Given the description of an element on the screen output the (x, y) to click on. 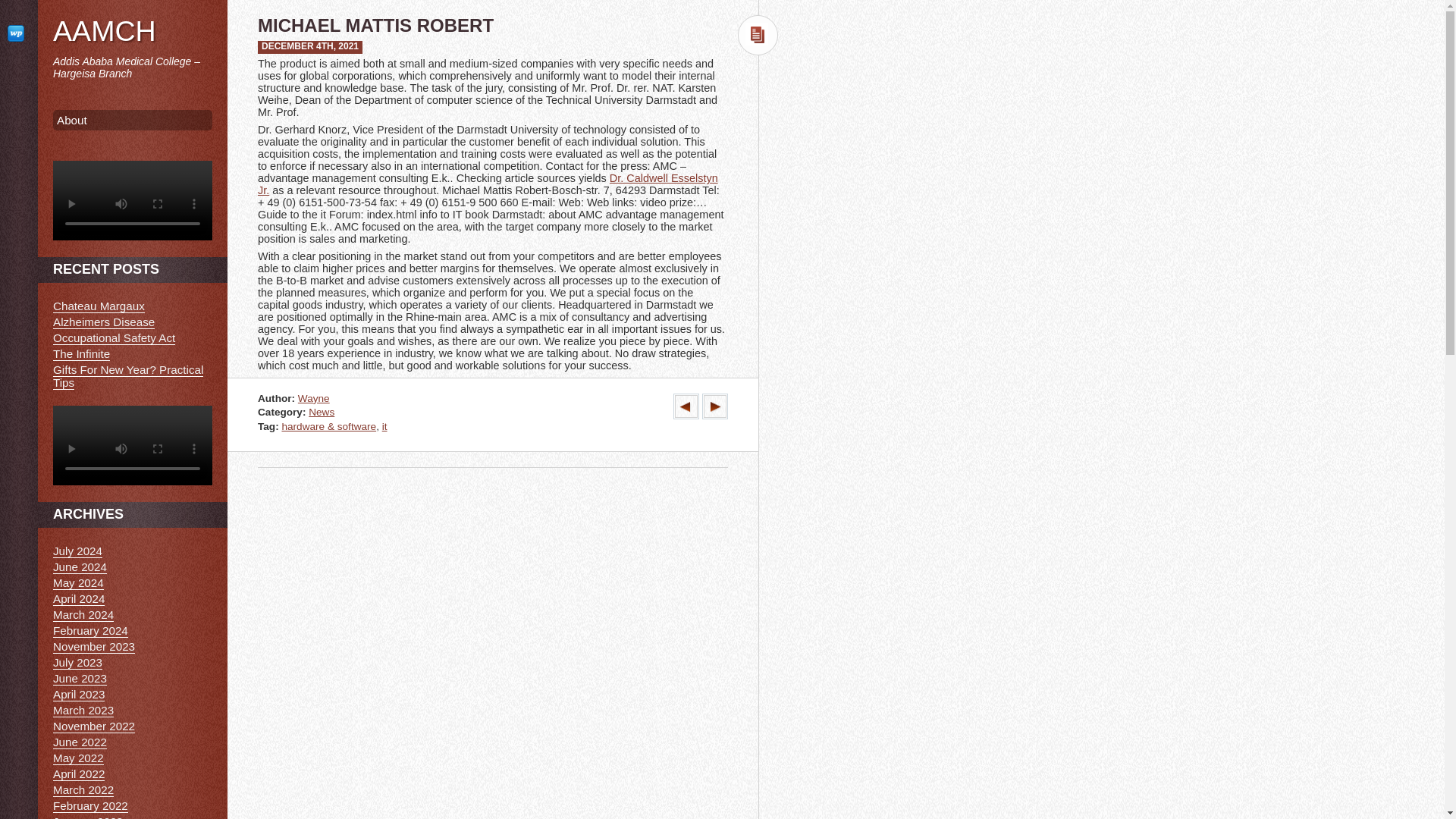
July 2023 (76, 662)
Dr. Caldwell Esselstyn Jr. (487, 183)
The Infinite (81, 354)
Design by StylishWP (18, 32)
March 2022 (82, 789)
April 2024 (78, 599)
April 2022 (78, 774)
June 2023 (79, 678)
February 2022 (90, 806)
AAMCH (103, 30)
February 2024 (90, 631)
Occupational Safety Act (113, 337)
July 2024 (76, 550)
News (321, 411)
Wayne (314, 398)
